Given the description of an element on the screen output the (x, y) to click on. 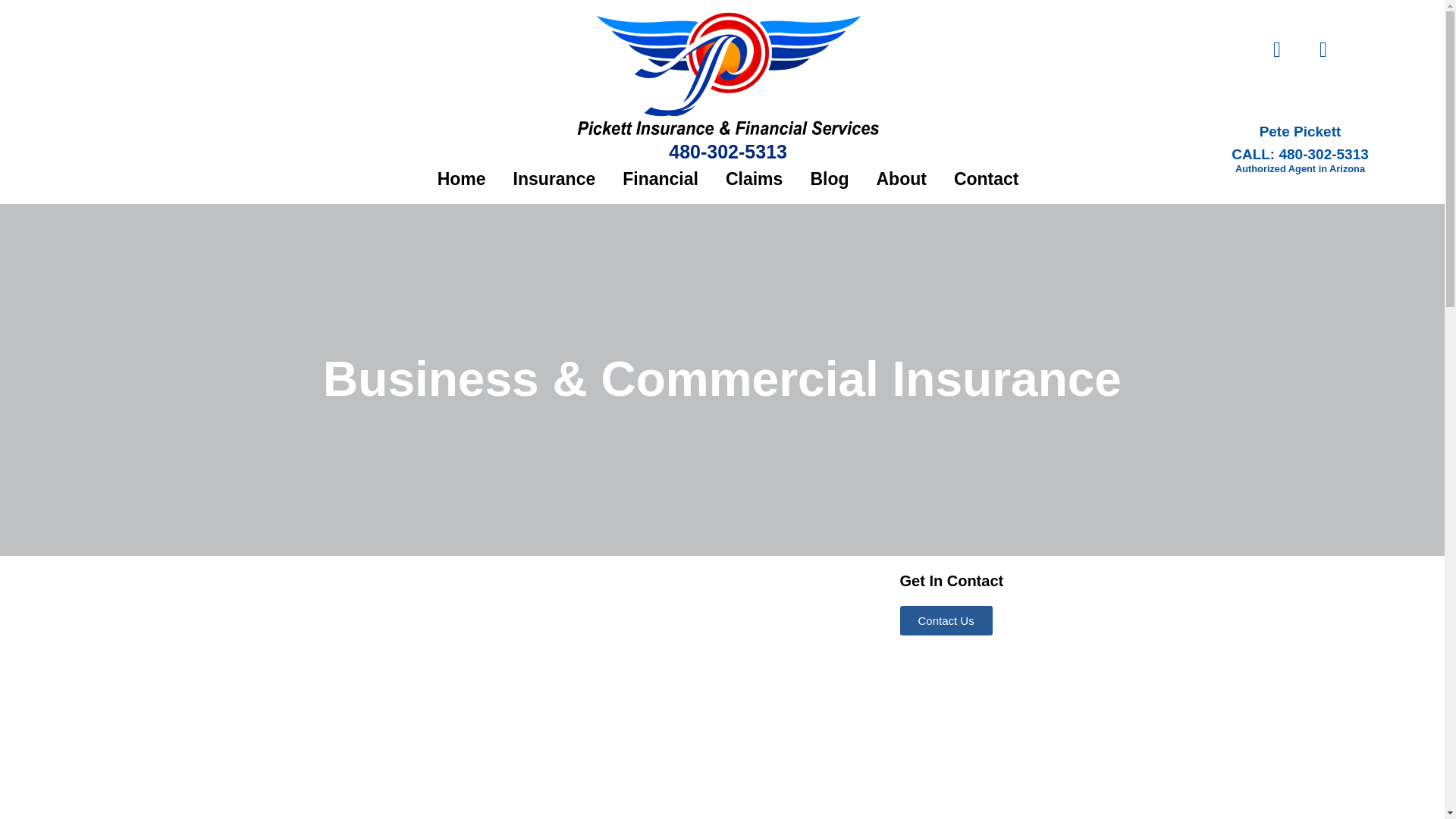
Contact (986, 178)
Facebook (1322, 49)
Contact Us (945, 620)
Blog (828, 178)
Home (461, 178)
Linkedin (1276, 49)
About (900, 178)
Financial (659, 178)
Insurance (554, 178)
Claims (753, 178)
